Given the description of an element on the screen output the (x, y) to click on. 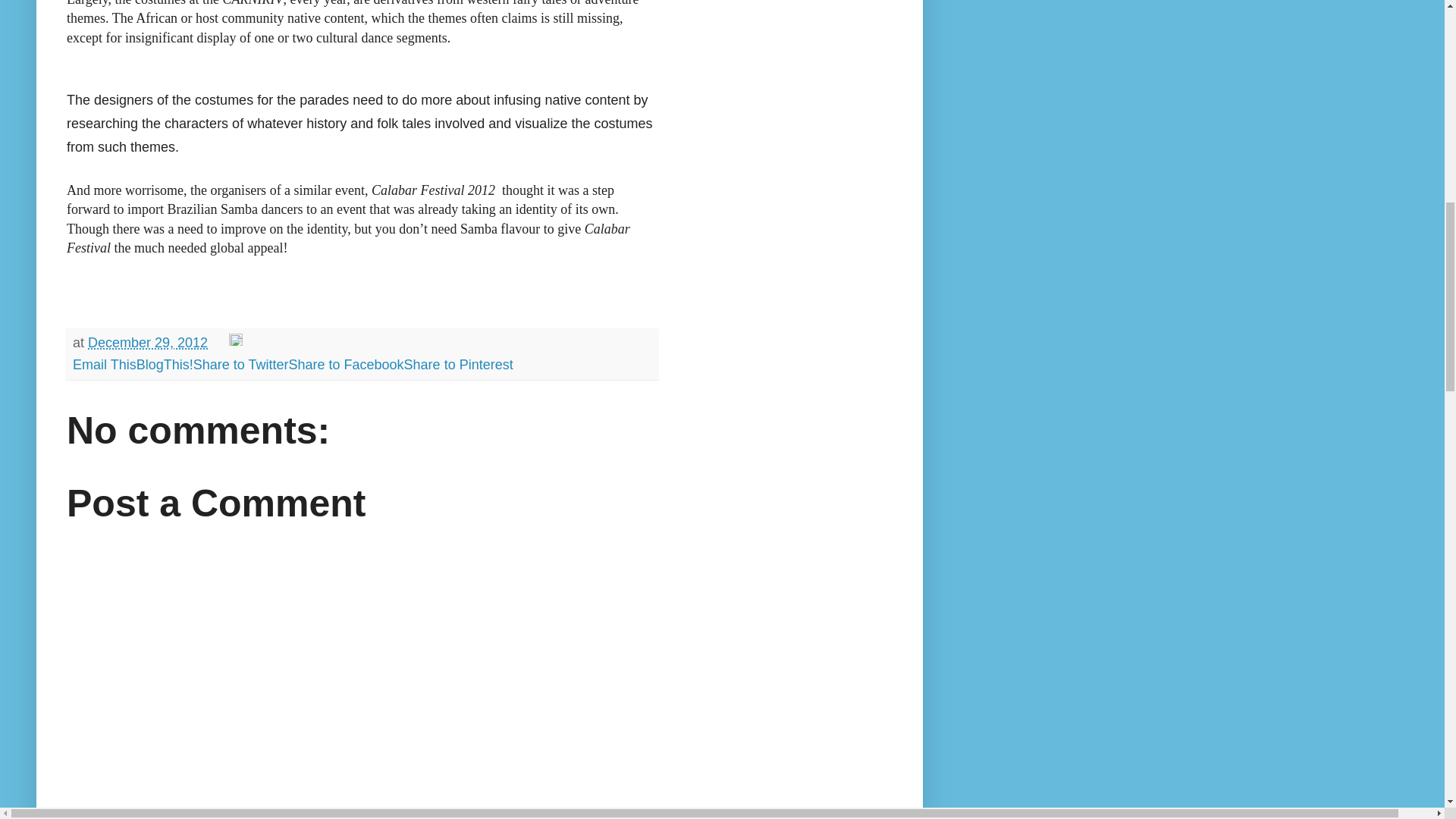
Share to Facebook (345, 364)
permanent link (147, 342)
Share to Twitter (240, 364)
Share to Pinterest (458, 364)
Email Post (219, 342)
Share to Twitter (240, 364)
Share to Facebook (345, 364)
Email This (104, 364)
Share to Pinterest (458, 364)
Edit Post (235, 342)
BlogThis! (164, 364)
BlogThis! (164, 364)
Email This (104, 364)
December 29, 2012 (147, 342)
